Given the description of an element on the screen output the (x, y) to click on. 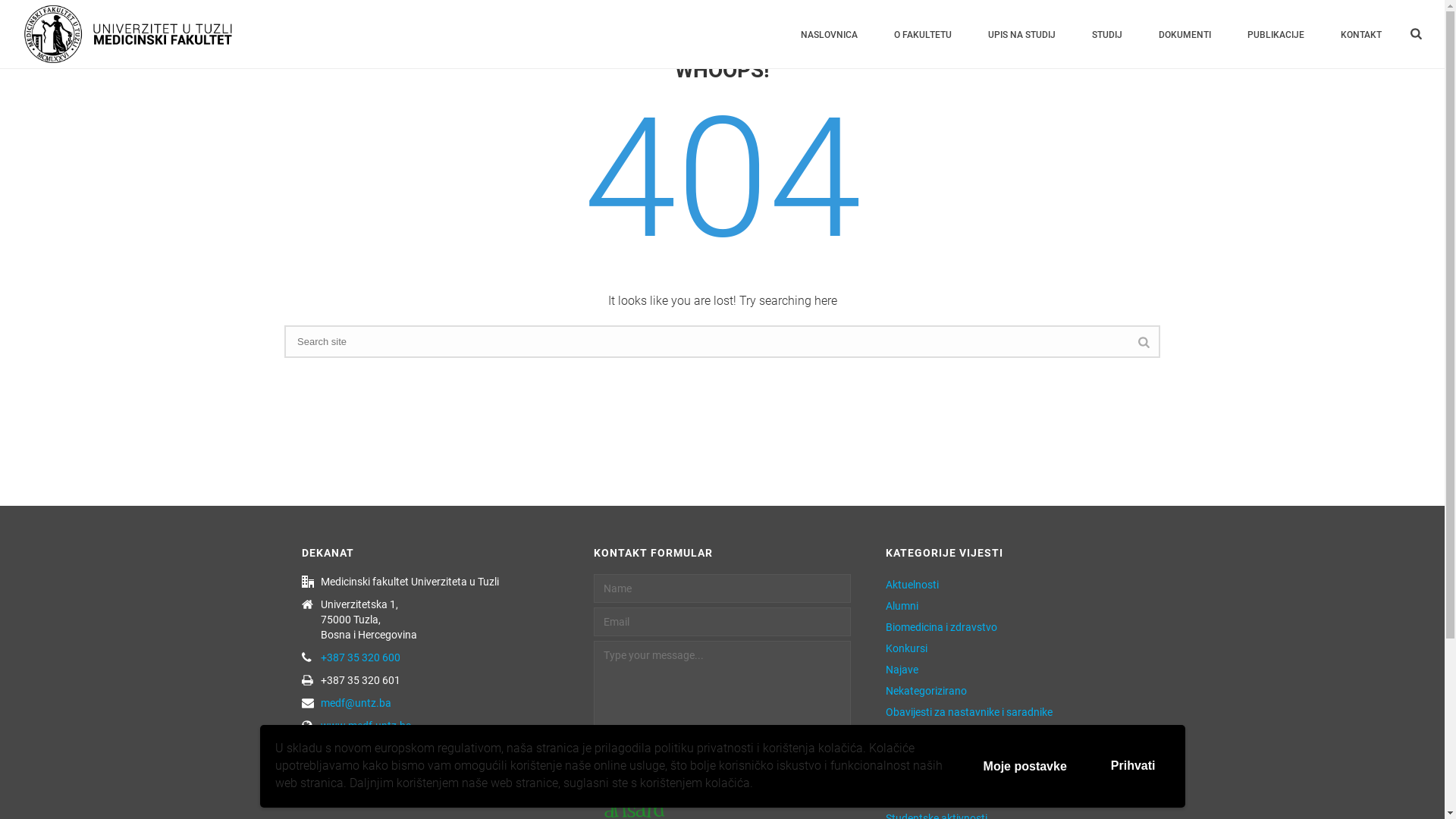
Biomedicina i zdravstvo Element type: text (941, 626)
O FAKULTETU Element type: text (922, 34)
UPIS NA STUDIJ Element type: text (1021, 34)
Konkursi Element type: text (906, 648)
DOKUMENTI Element type: text (1184, 34)
NASLOVNICA Element type: text (829, 34)
Odsjek zdravstvenih studija Element type: text (949, 733)
+387 35 320 600 Element type: text (360, 657)
Prihvati Element type: text (1133, 766)
medf@untz.ba Element type: text (355, 702)
STUDIJ Element type: text (1107, 34)
KONTAKT Element type: text (1361, 34)
Obavijesti za nastavnike i saradnike Element type: text (968, 711)
Not readable? Change text. Element type: text (721, 781)
Nekategorizirano Element type: text (925, 690)
Aktuelnosti Element type: text (911, 584)
www.medf.untz.ba Element type: text (365, 725)
Alumni Element type: text (901, 605)
PUBLIKACIJE Element type: text (1275, 34)
Najave Element type: text (901, 669)
Moje postavke Element type: text (1025, 766)
